Given the description of an element on the screen output the (x, y) to click on. 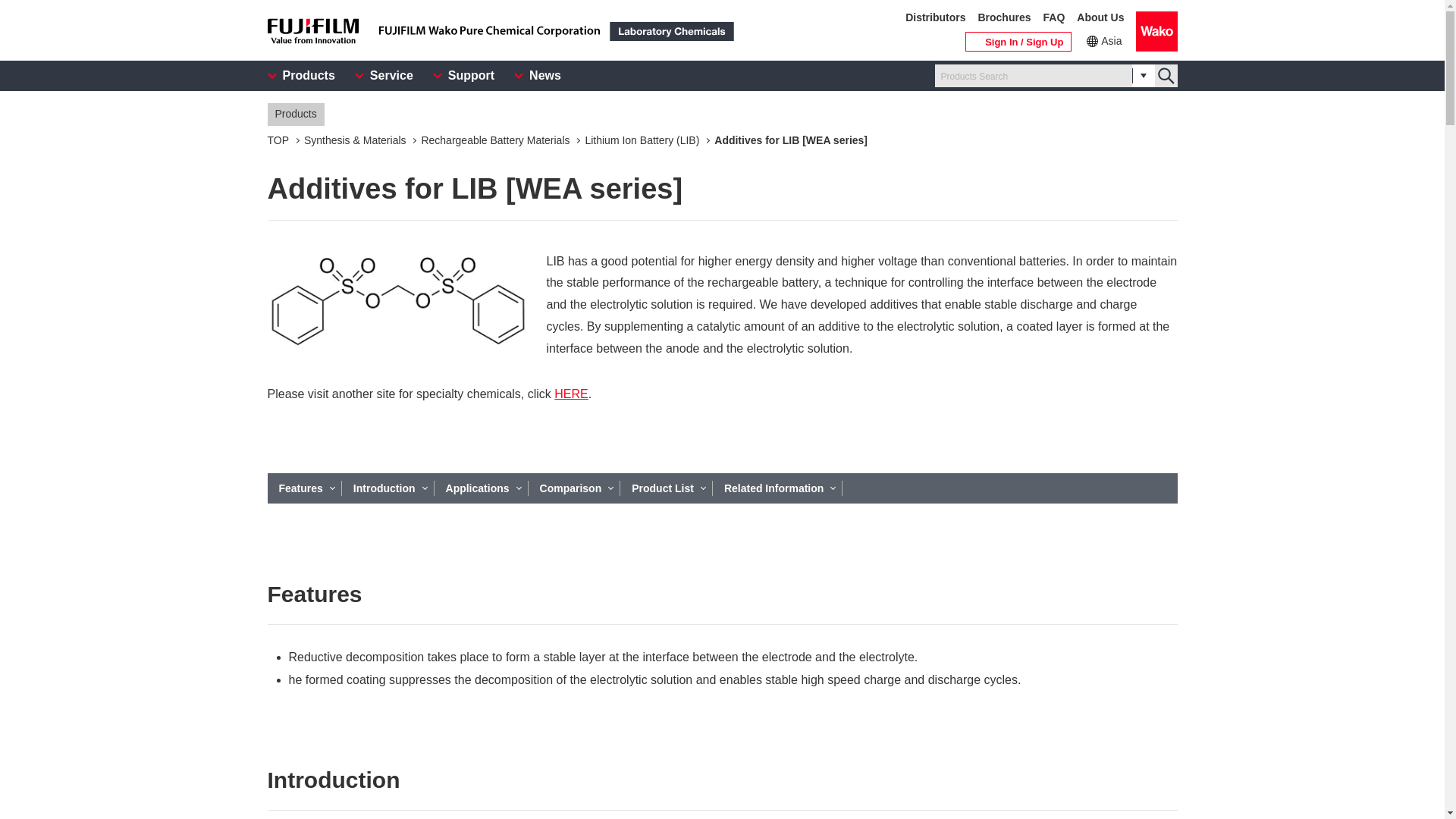
Comparison (574, 488)
WAKO Specialty Chemicals (571, 393)
Applications (480, 488)
Asia (1103, 40)
HERE (571, 393)
TOP (277, 140)
About Us (1100, 17)
Rechargeable Battery Materials (494, 140)
Brochures (1003, 17)
Search (1165, 75)
Product List (666, 488)
Related Information (778, 488)
Features (303, 488)
Introduction (387, 488)
Distributors (935, 17)
